Given the description of an element on the screen output the (x, y) to click on. 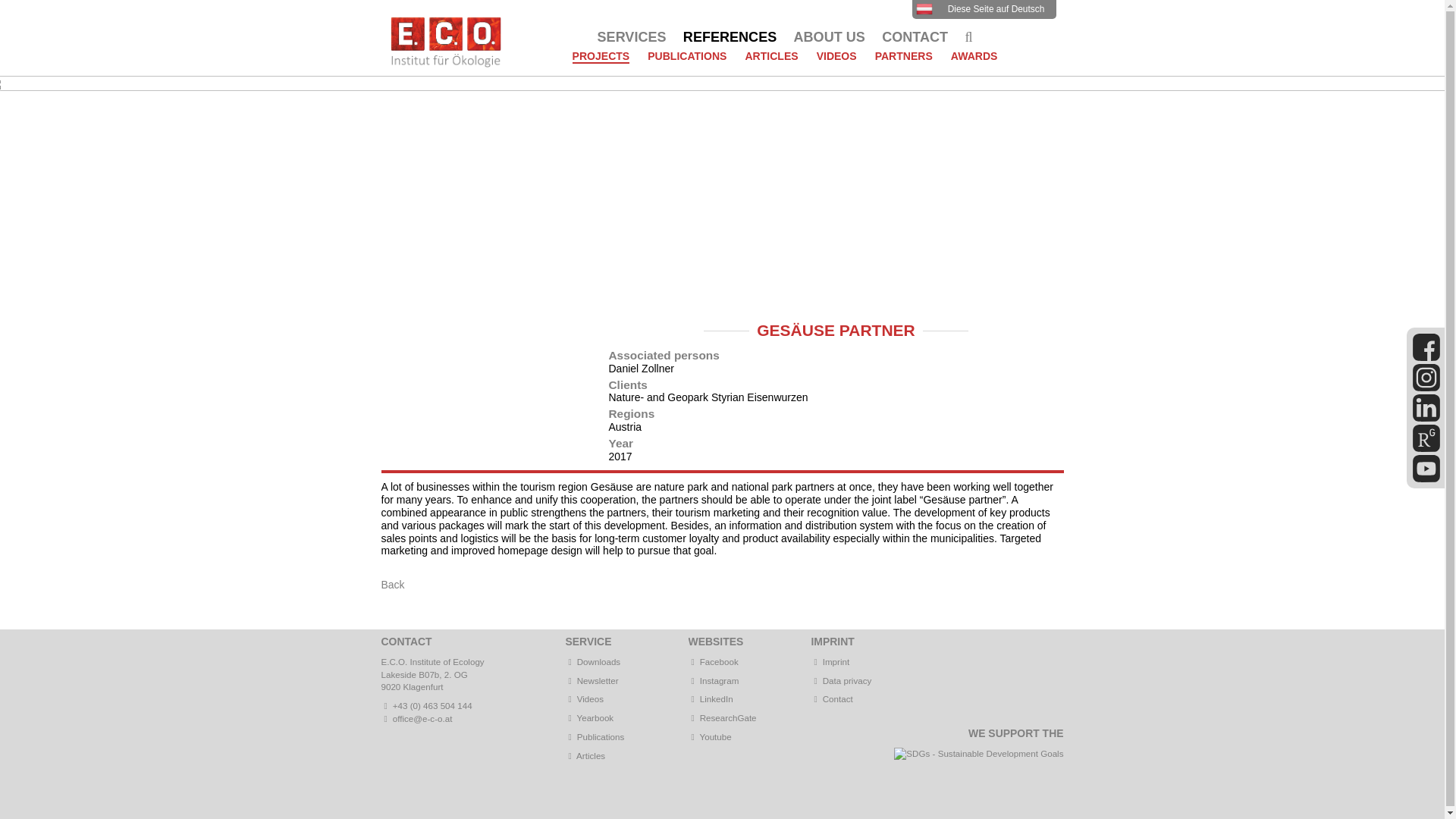
Publications (600, 737)
ARTICLES (770, 61)
LinkedIn (710, 698)
PUBLICATIONS (687, 61)
Partners (904, 61)
Articles (590, 755)
Projektdetails (983, 9)
Articles (770, 61)
VIDEOS (837, 61)
Diese Seite auf Deutsch (983, 9)
ABOUT US (829, 37)
Yearbook (590, 717)
SERVICES (631, 37)
Videos (590, 698)
